Given the description of an element on the screen output the (x, y) to click on. 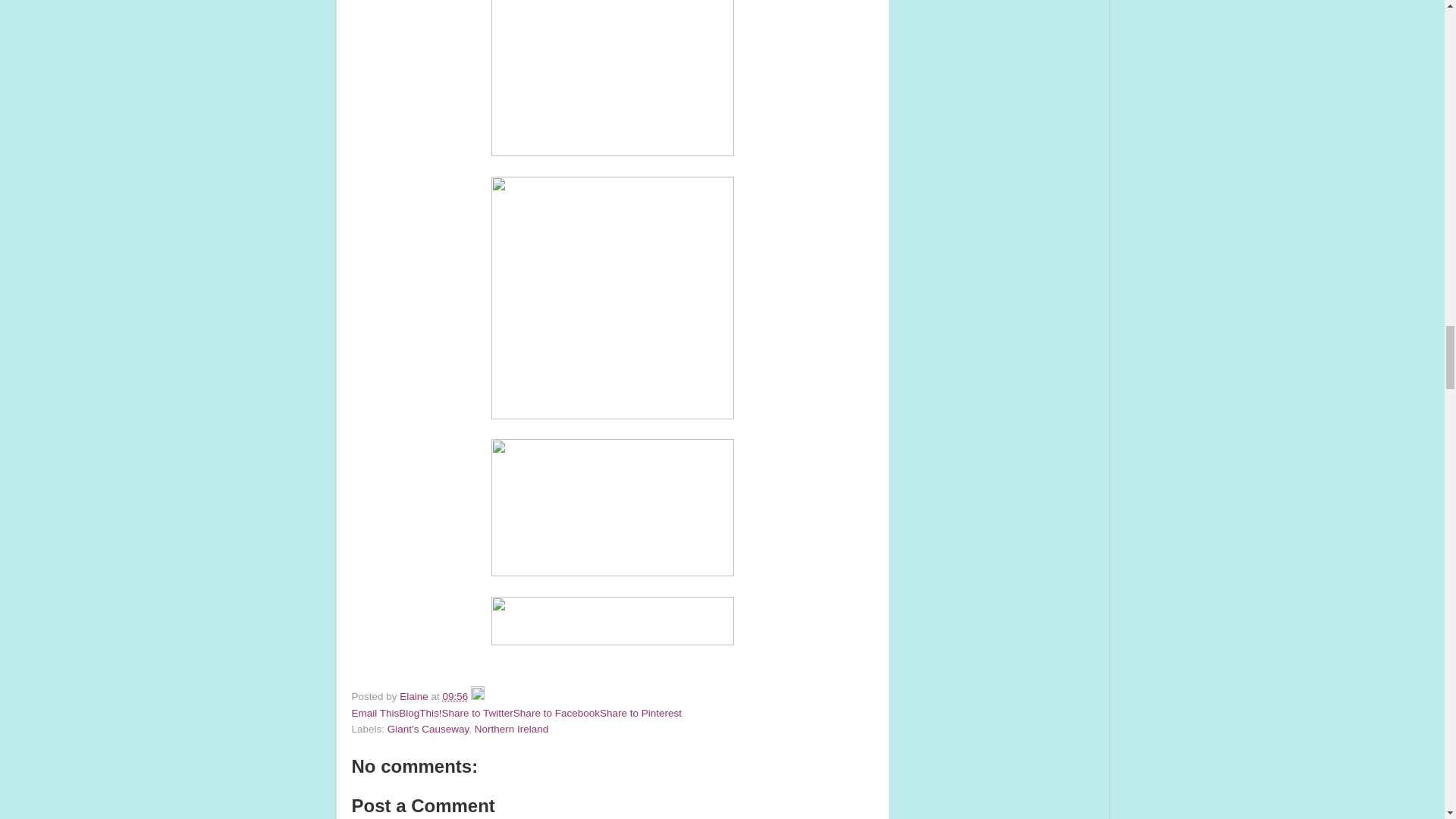
Share to Pinterest (640, 713)
Northern Ireland (511, 728)
Share to Twitter (477, 713)
Share to Facebook (556, 713)
09:56 (455, 696)
Share to Twitter (477, 713)
Giant's Causeway (427, 728)
Elaine (414, 696)
Share to Facebook (556, 713)
author profile (414, 696)
BlogThis! (419, 713)
Email This (375, 713)
Edit Post (477, 696)
Email This (375, 713)
Share to Pinterest (640, 713)
